Given the description of an element on the screen output the (x, y) to click on. 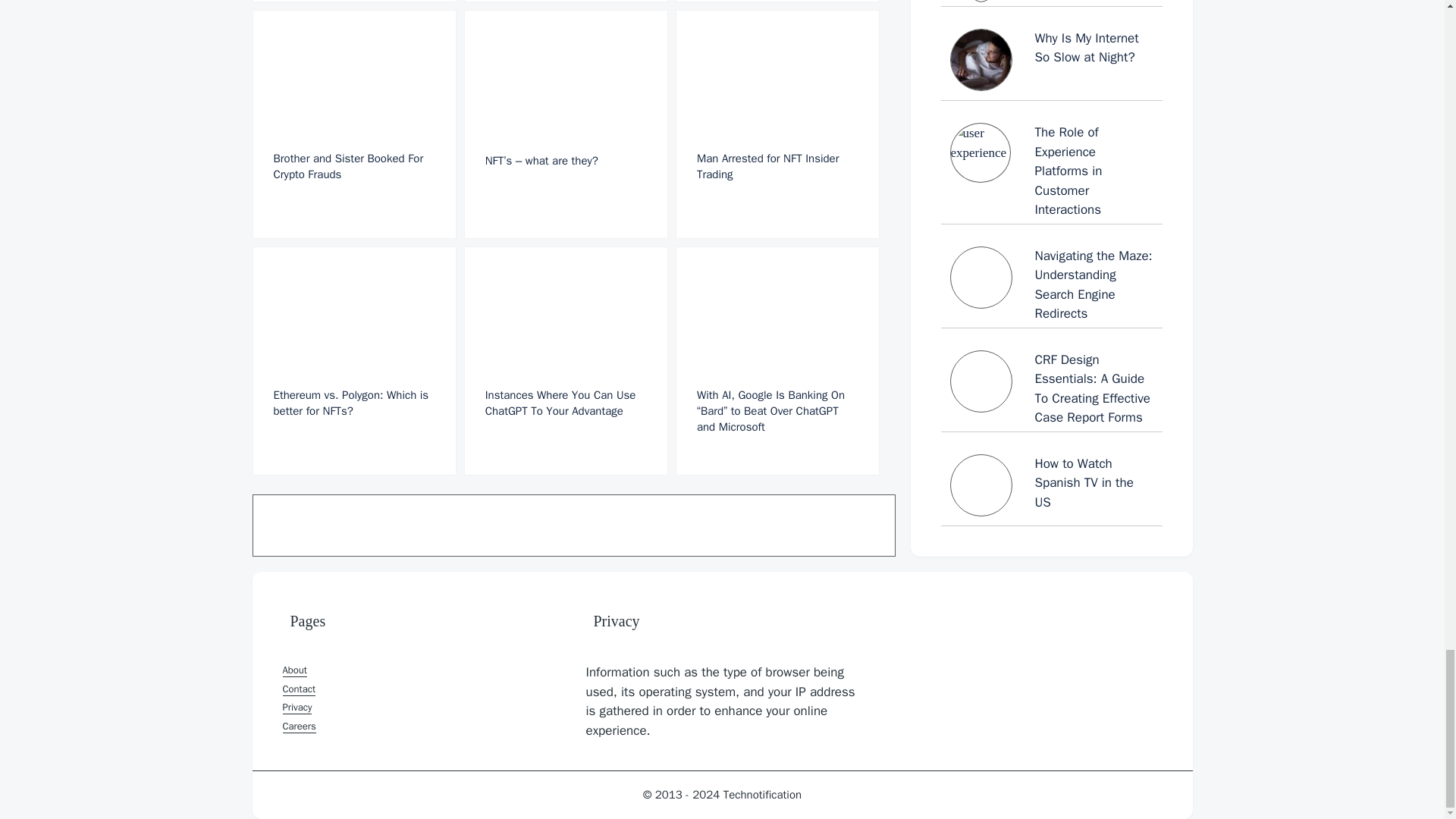
Man Arrested for NFT Insider Trading (777, 124)
Intel Is Developing an Energy-Efficient Mining GPU (353, 1)
Brother and Sister Booked For Crypto Frauds (353, 124)
Best Cryptocurrencies You Can Go For In 2022 (566, 1)
Brother and Sister Booked For Crypto Frauds (353, 124)
Instances Where You Can Use ChatGPT To Your Advantage (566, 360)
Intel Is Developing an Energy-Efficient Mining GPU (353, 1)
Best Cryptocurrencies You Can Go For In 2022 (566, 1)
Ethereum vs. Polygon: Which is better for NFTs? (353, 360)
